Given the description of an element on the screen output the (x, y) to click on. 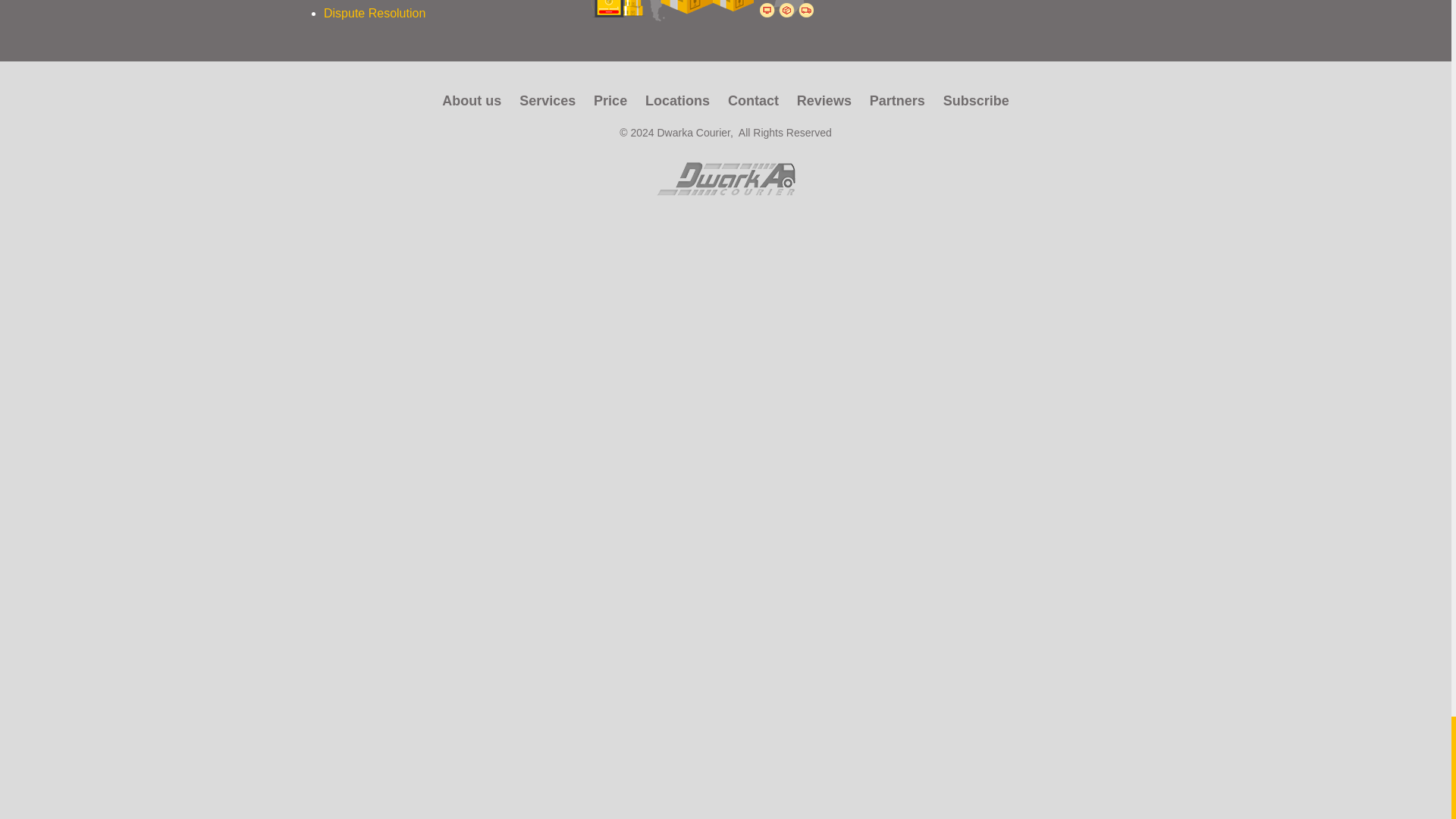
Contact (753, 100)
Partners (896, 100)
Price (610, 100)
Subscribe (976, 100)
Services (547, 100)
Reviews (823, 100)
Locations (677, 100)
About us (471, 100)
